Given the description of an element on the screen output the (x, y) to click on. 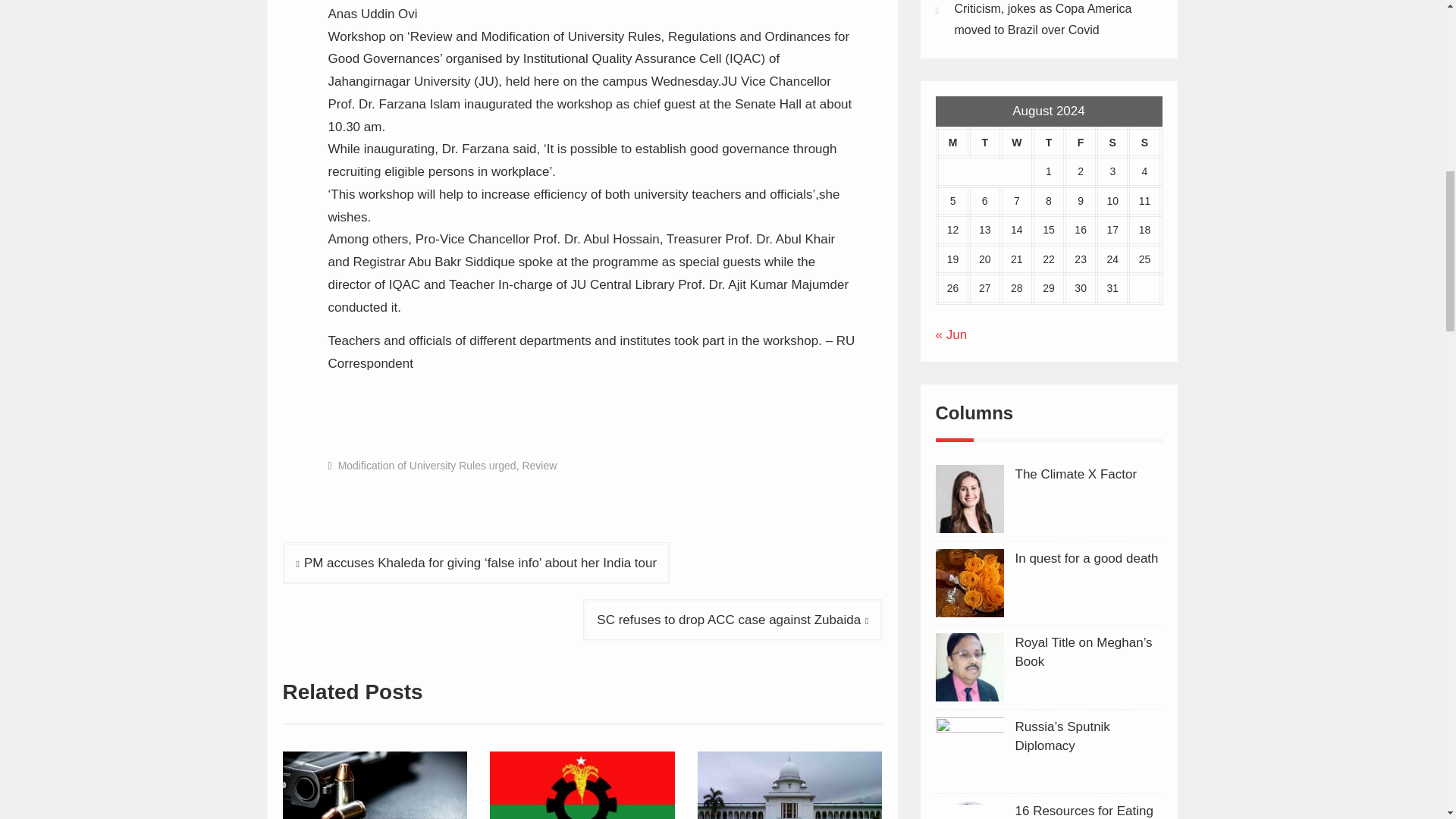
Monday (953, 142)
Thursday (1048, 142)
Tuesday (985, 142)
Saturday (1112, 142)
Wednesday (1016, 142)
Sunday (1144, 142)
Friday (1080, 142)
